Given the description of an element on the screen output the (x, y) to click on. 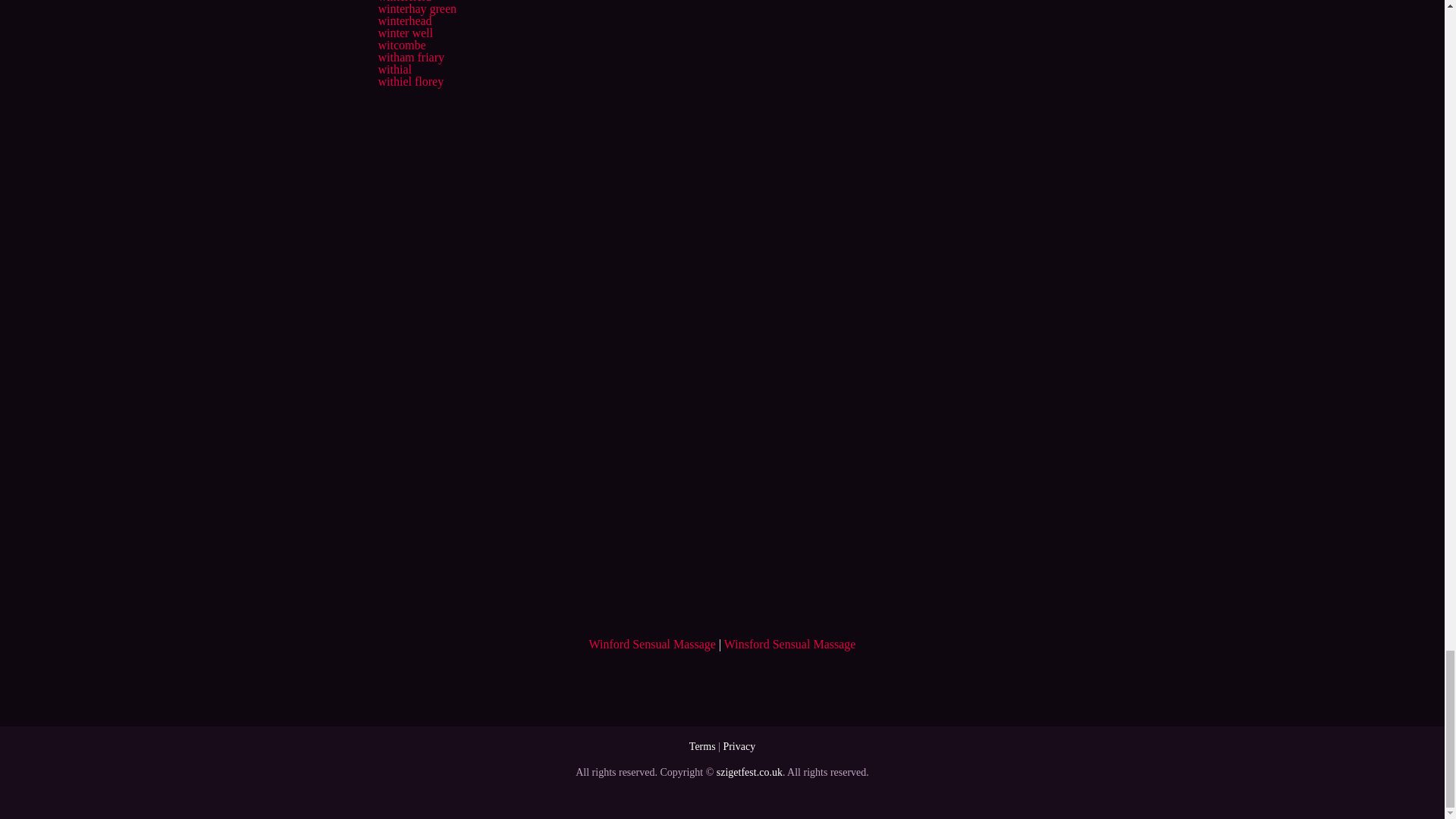
Terms (702, 746)
winterhay green (417, 8)
szigetfest.co.uk (749, 772)
Winsford Sensual Massage (789, 644)
Privacy (738, 746)
witcombe (401, 44)
winterfield (403, 1)
winter well (404, 32)
Winford Sensual Massage (652, 644)
Privacy (738, 746)
winterhead (403, 20)
withiel florey (410, 81)
withial (393, 69)
Terms (702, 746)
witham friary (410, 56)
